Given the description of an element on the screen output the (x, y) to click on. 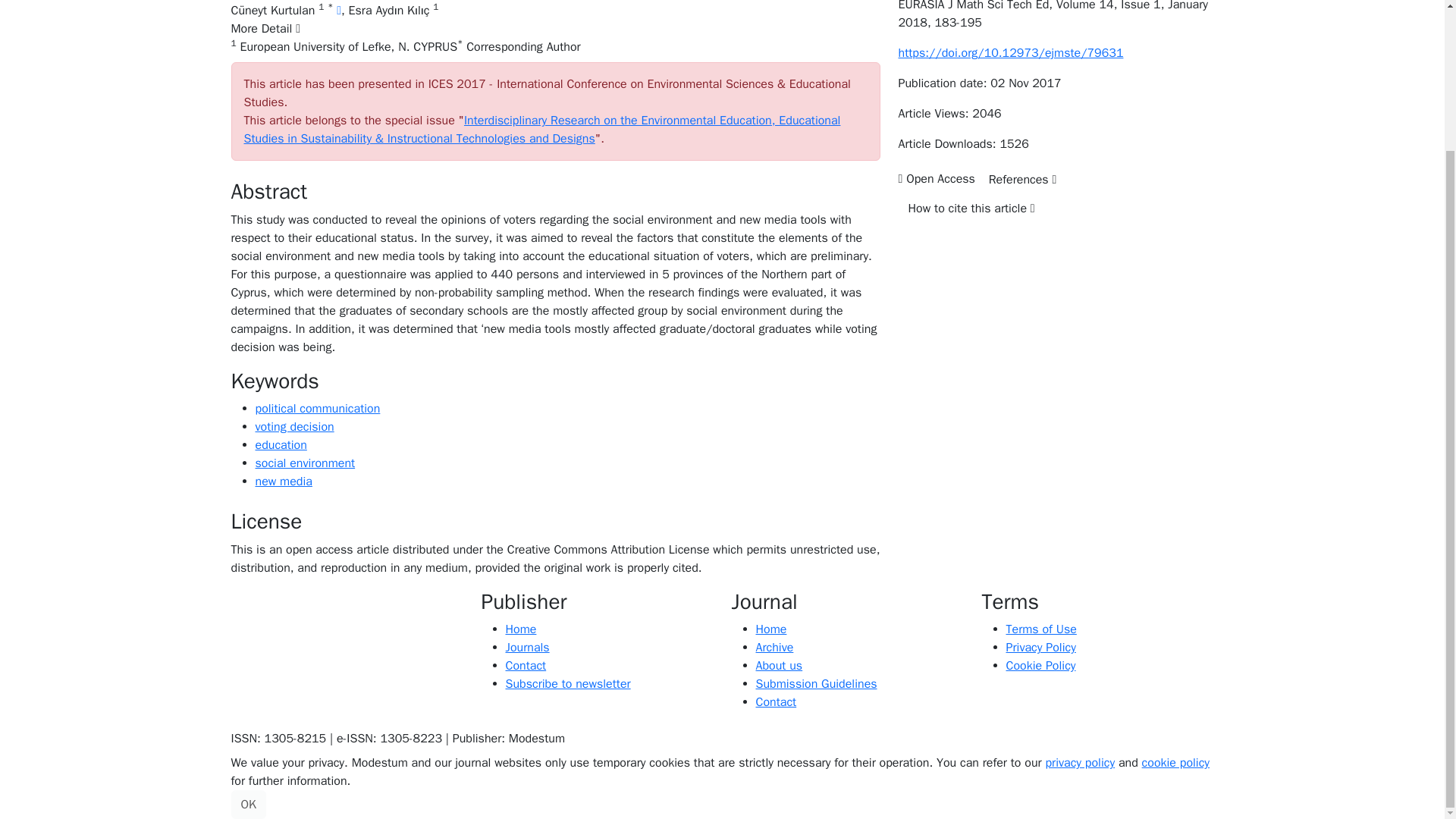
political communication (317, 408)
education (279, 444)
voting decision (293, 426)
